Given the description of an element on the screen output the (x, y) to click on. 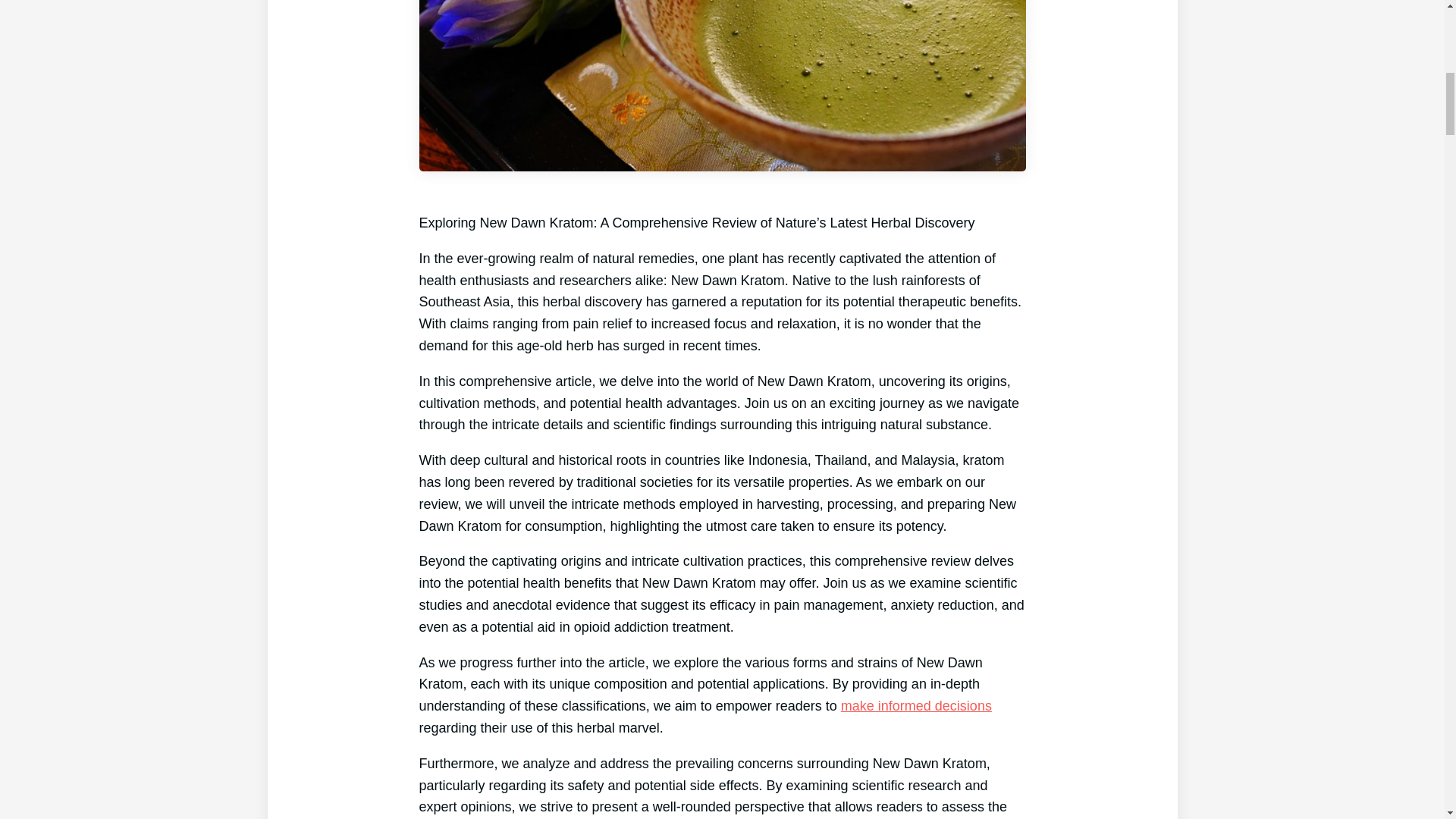
make informed decisions (916, 705)
Kratom Warning: This Supplement Has Many Dangers! (916, 705)
